Given the description of an element on the screen output the (x, y) to click on. 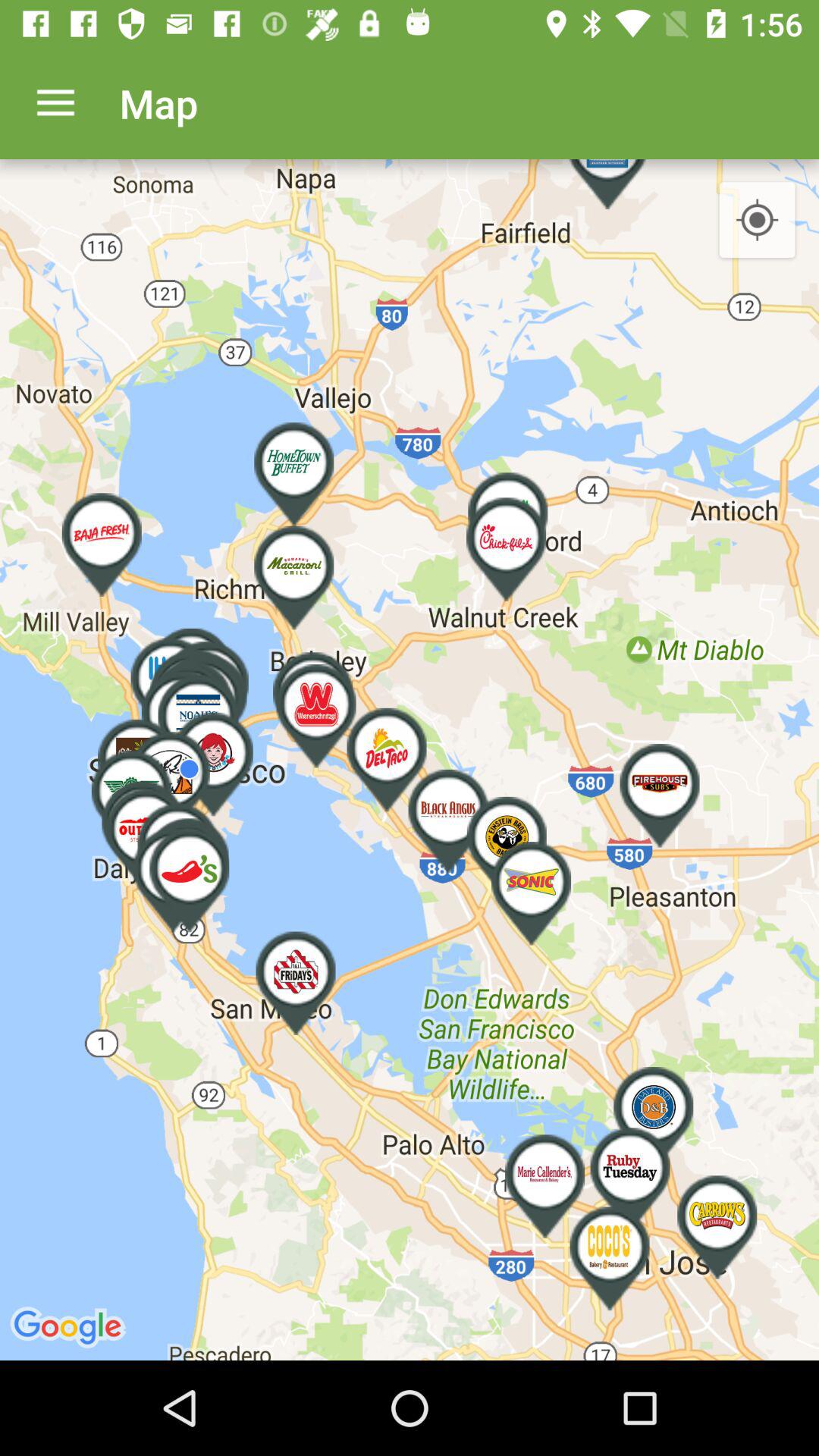
open the icon to the left of map item (55, 103)
